Given the description of an element on the screen output the (x, y) to click on. 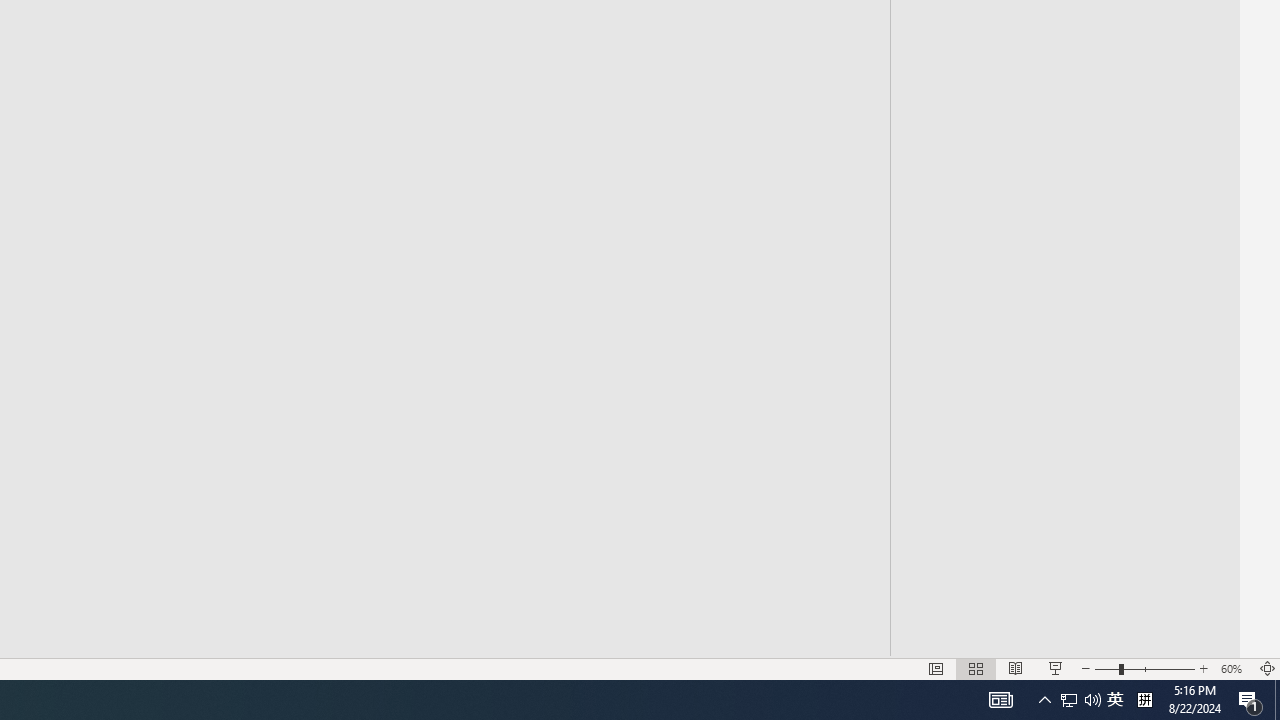
Zoom 60% (1234, 668)
